Given the description of an element on the screen output the (x, y) to click on. 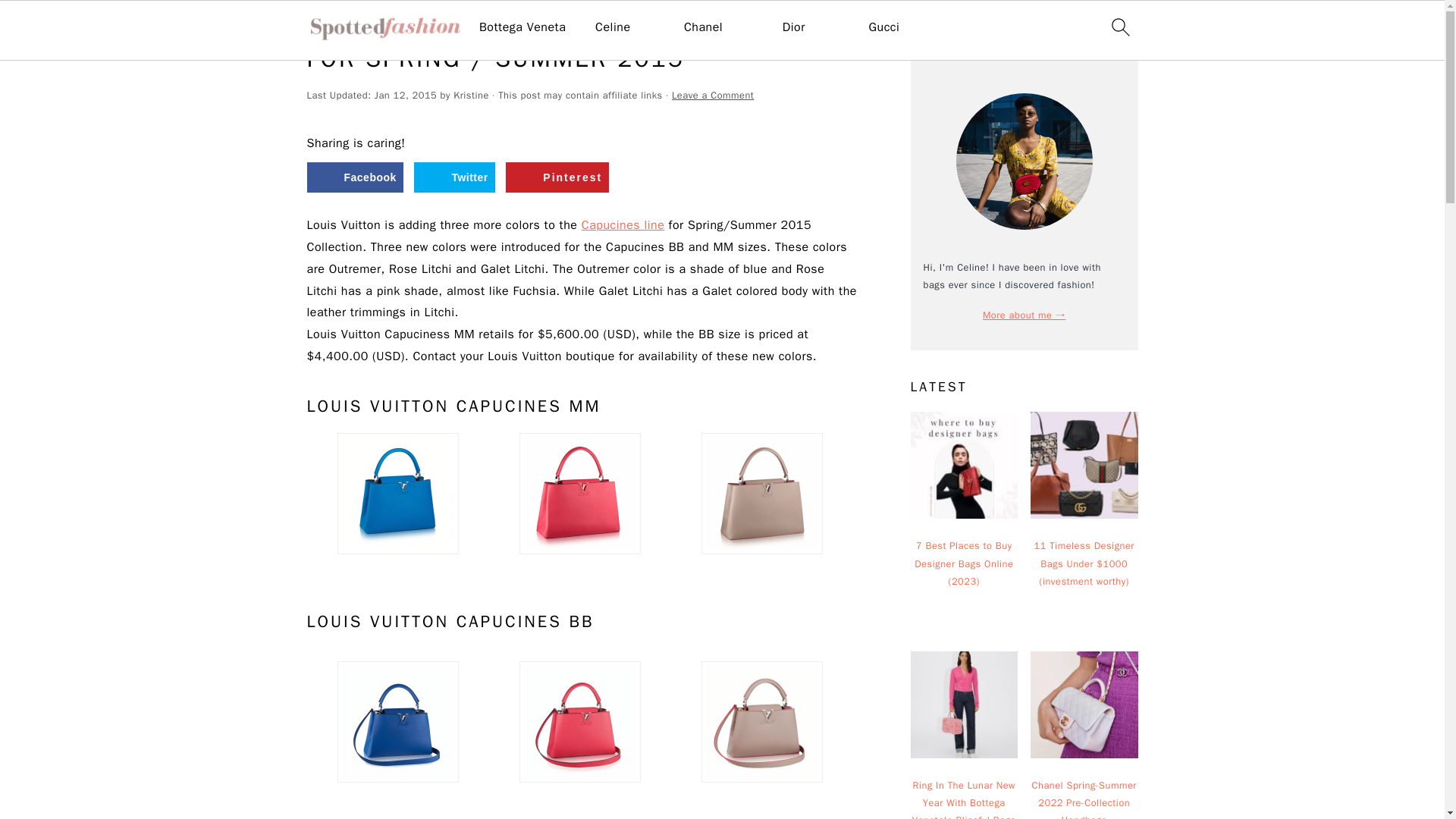
Share on Facebook (354, 177)
Dior (794, 27)
Facebook (354, 177)
Share on Twitter (454, 177)
Chanel (703, 27)
Pinterest (556, 177)
Bottega Veneta (522, 27)
Leave a Comment (712, 95)
Celine (612, 27)
Twitter (454, 177)
Gucci (883, 27)
search icon (1119, 26)
Save to Pinterest (556, 177)
